Given the description of an element on the screen output the (x, y) to click on. 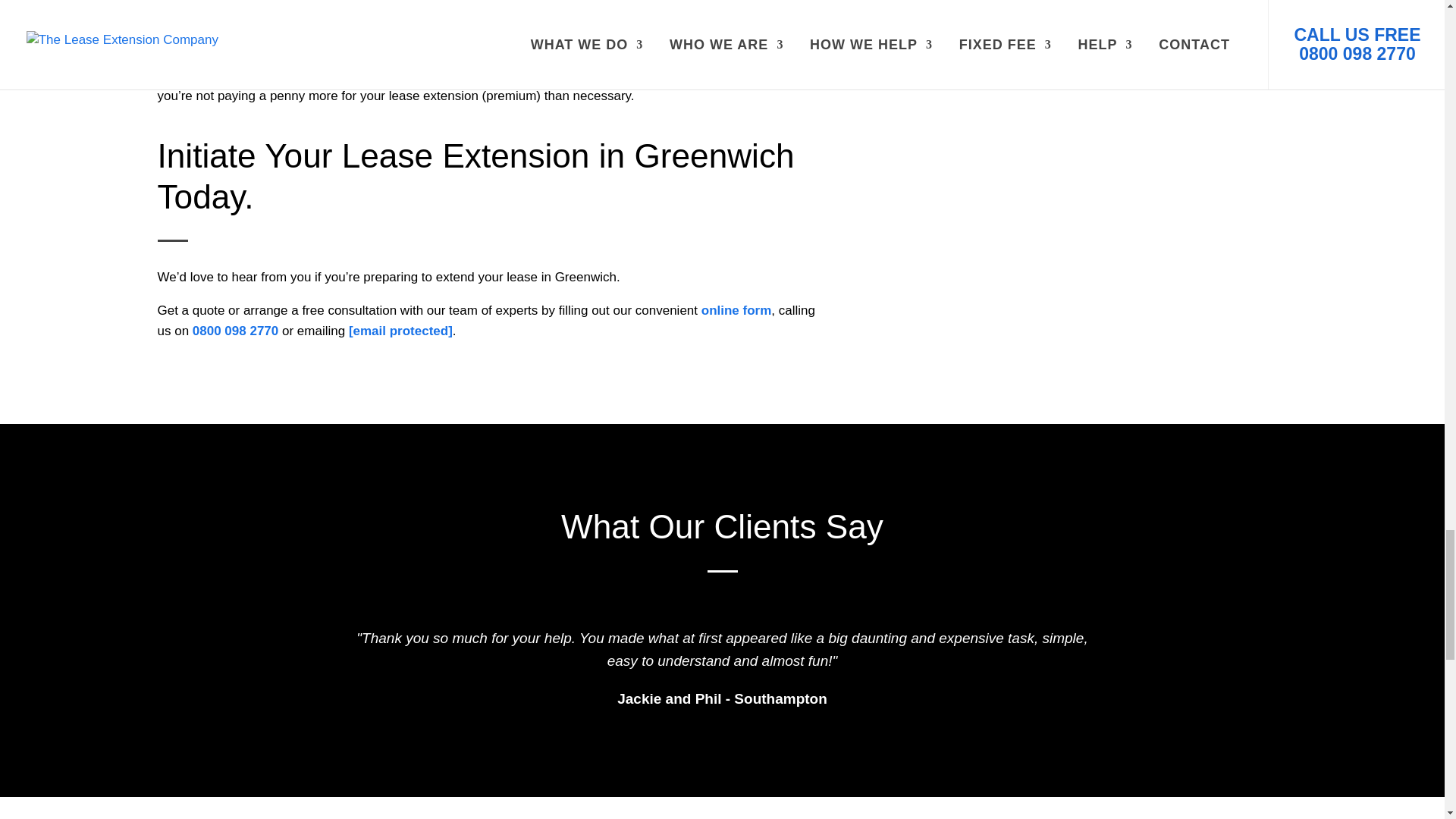
fixed fee (272, 42)
